Given the description of an element on the screen output the (x, y) to click on. 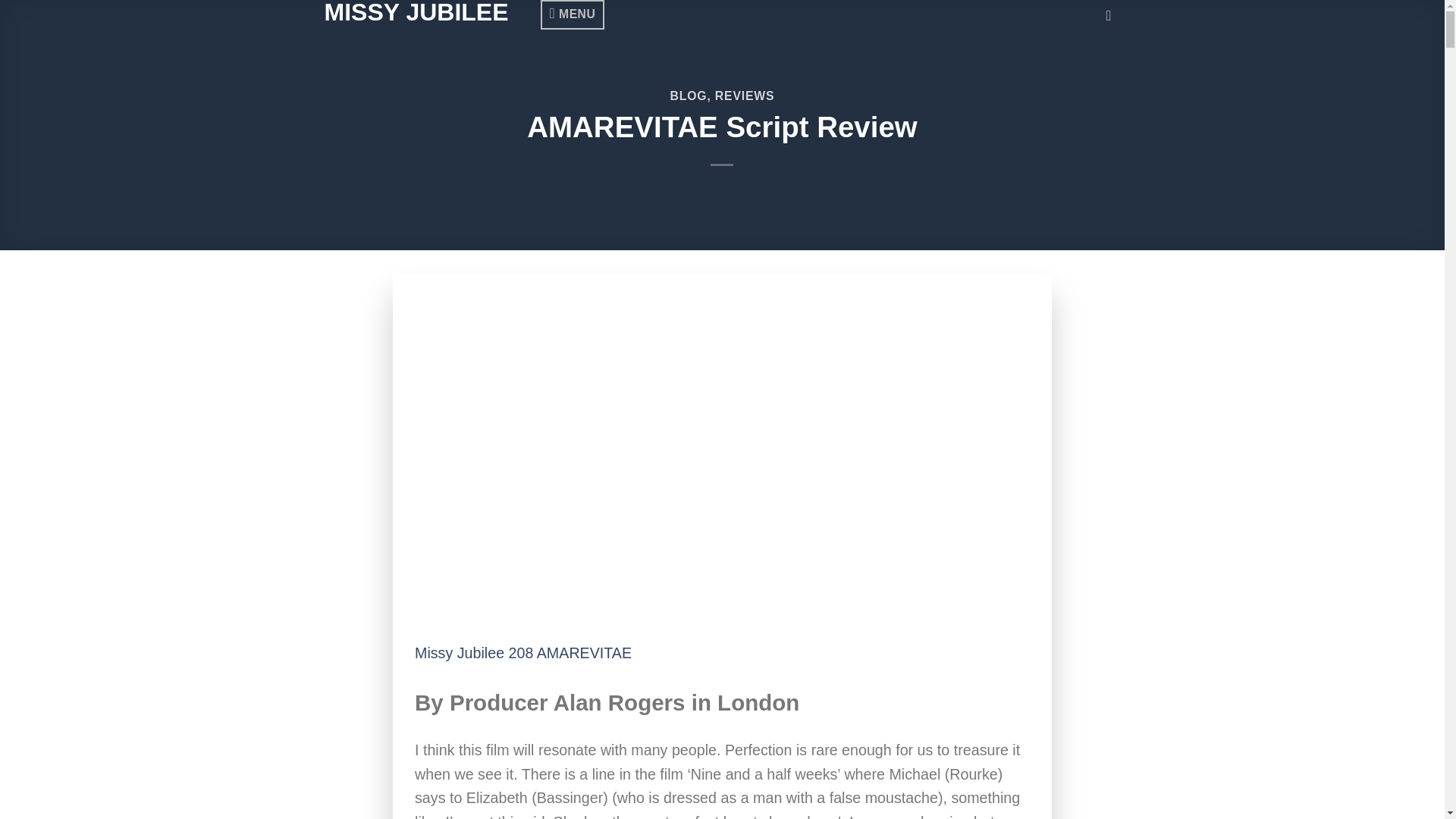
MENU (572, 14)
Missy Jubilee 208 AMAREVITAE (522, 652)
REVIEWS (744, 95)
MISSY JUBILEE (432, 12)
BLOG (688, 95)
Missy Jubilee - The Future Sex Love Art Projekt (432, 12)
